Given the description of an element on the screen output the (x, y) to click on. 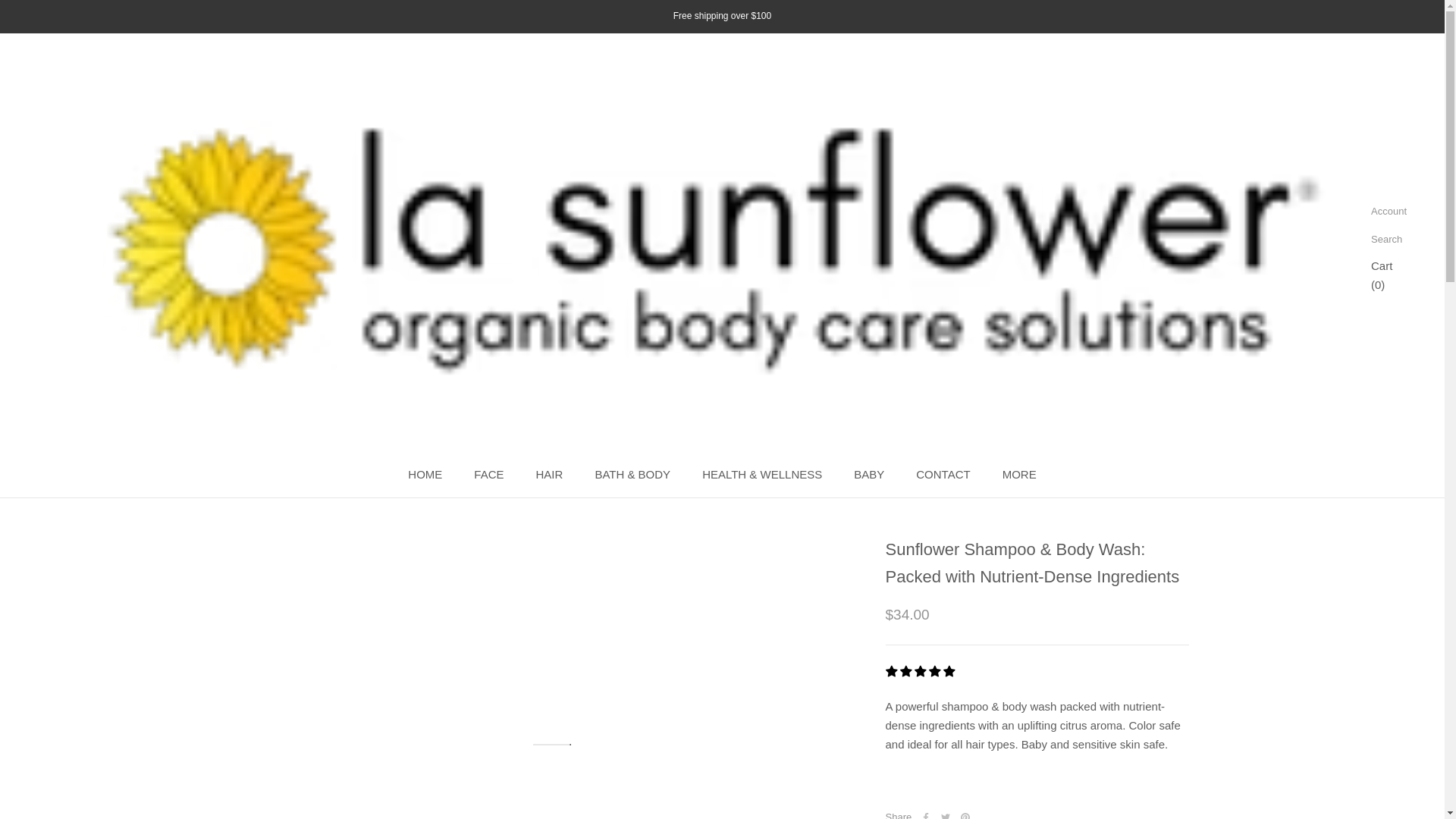
CONTACT (942, 473)
FACE (549, 473)
